Given the description of an element on the screen output the (x, y) to click on. 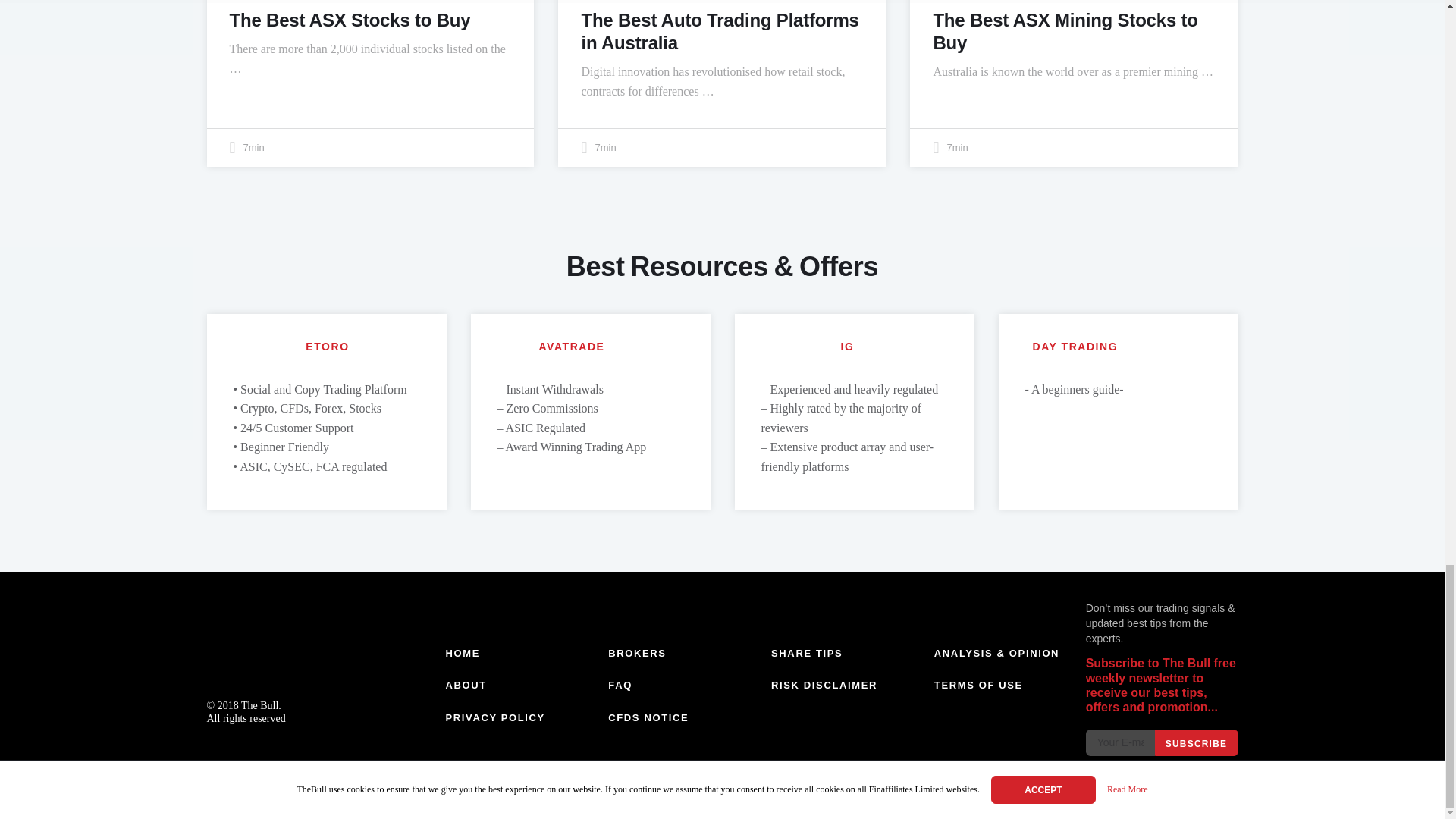
The Best ASX Stocks to Buy (349, 19)
Subscribe (1195, 742)
The Best Auto Trading Platforms in Australia (719, 31)
